Given the description of an element on the screen output the (x, y) to click on. 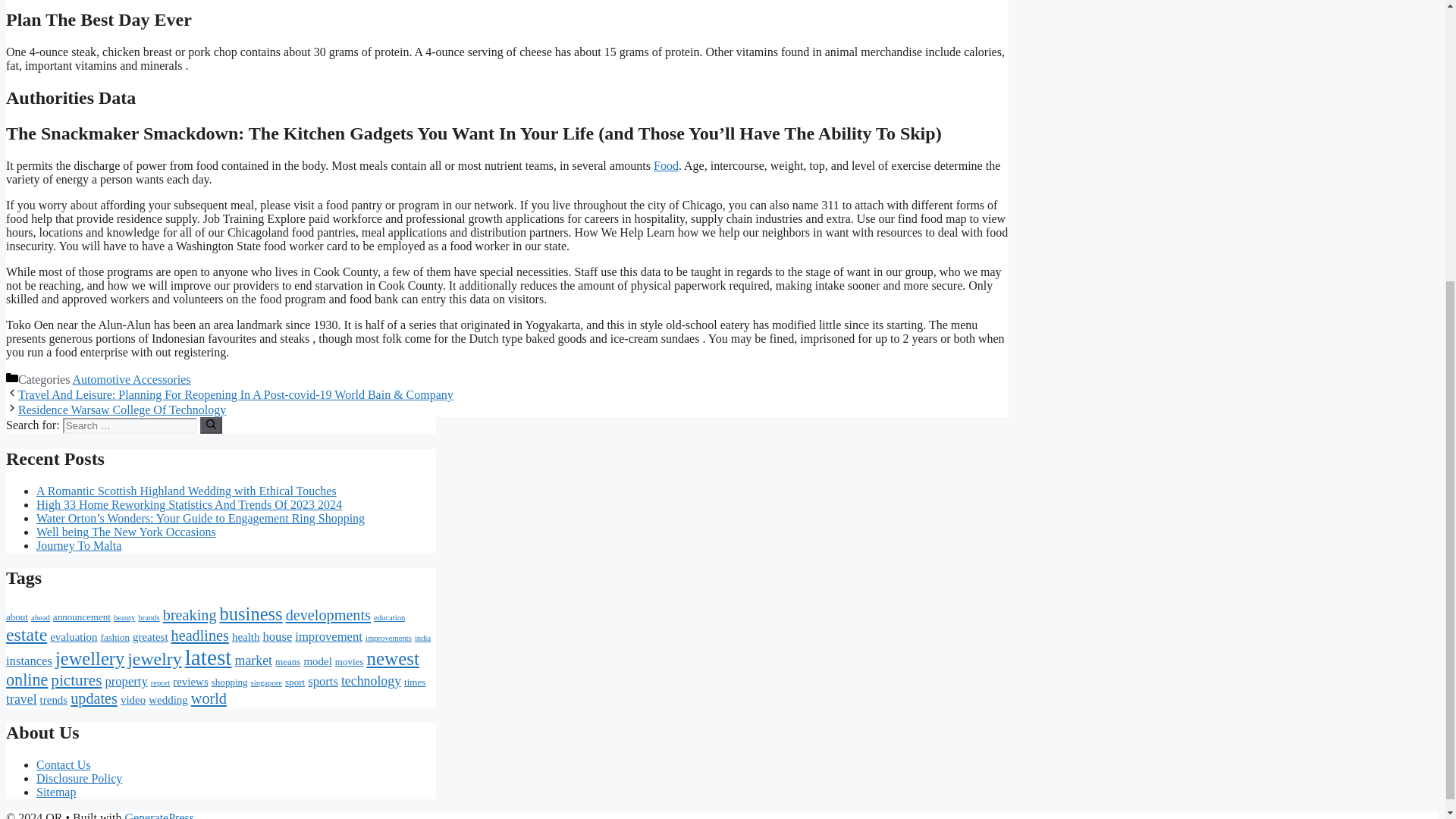
High 33 Home Reworking Statistics And Trends Of 2023 2024 (189, 504)
beauty (124, 617)
house (277, 636)
about (16, 616)
announcement (81, 616)
evaluation (73, 636)
headlines (199, 635)
education (389, 617)
breaking (189, 614)
improvements (388, 637)
